Given the description of an element on the screen output the (x, y) to click on. 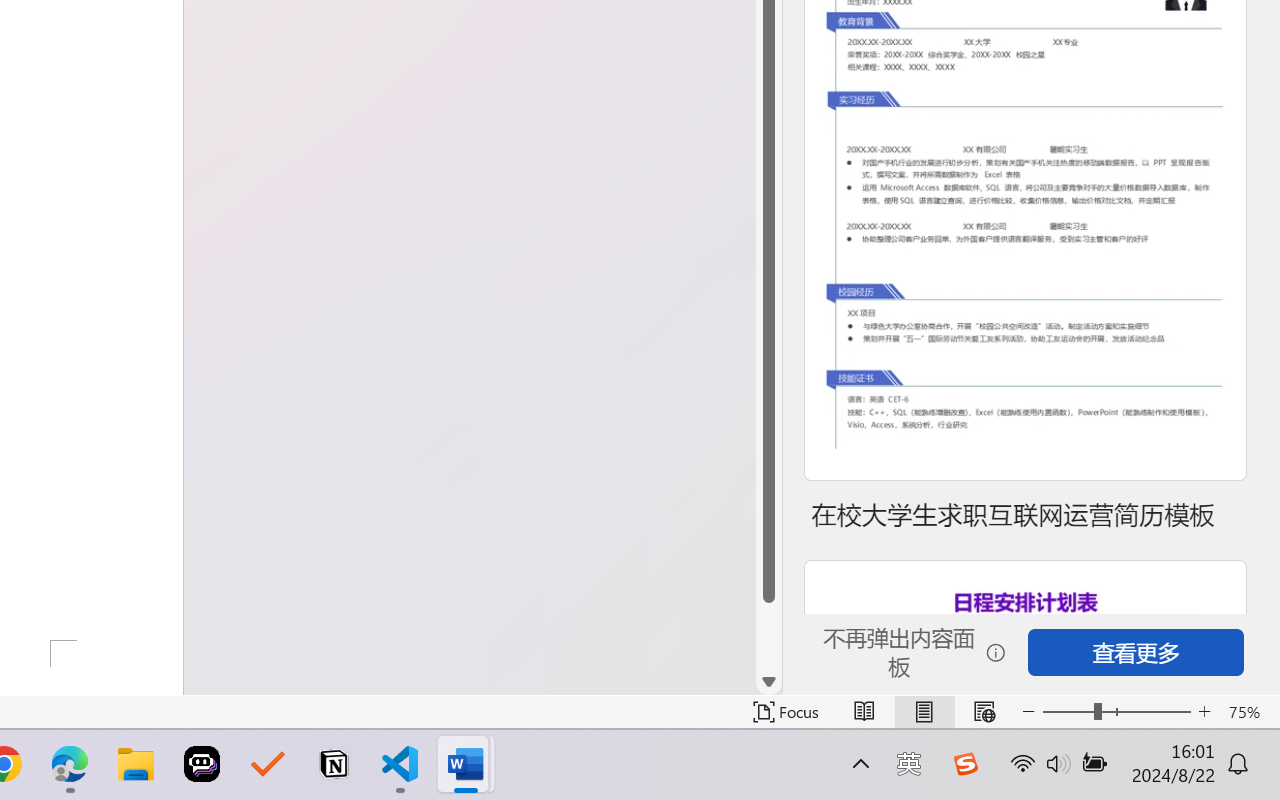
Read Mode (864, 712)
Zoom Out (1067, 712)
Line down (769, 681)
Print Layout (924, 712)
Class: Image (965, 764)
Zoom (1116, 712)
Page down (769, 635)
Zoom In (1204, 712)
Web Layout (984, 712)
Focus  (786, 712)
